Given the description of an element on the screen output the (x, y) to click on. 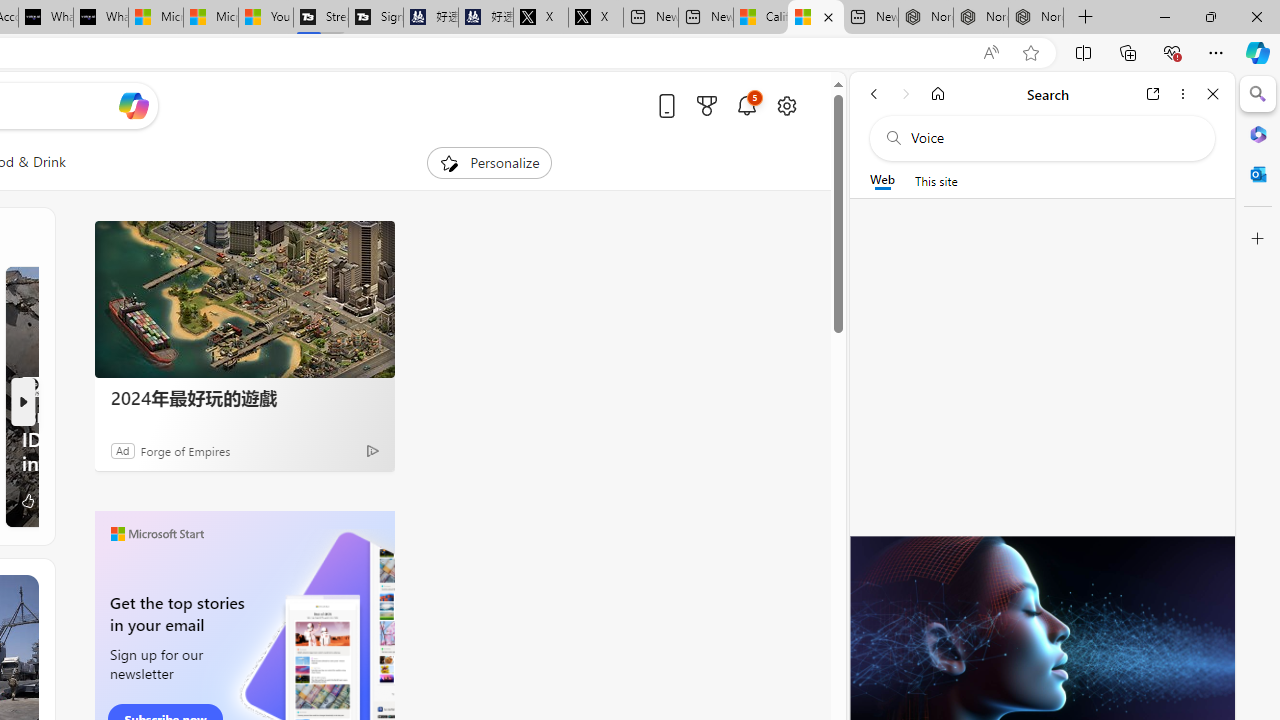
This site scope (936, 180)
News - MSN (815, 17)
Notifications (746, 105)
Nordace - Siena Pro 15 Essential Set (1035, 17)
Forge of Empires (184, 450)
570 Like (38, 500)
